Given the description of an element on the screen output the (x, y) to click on. 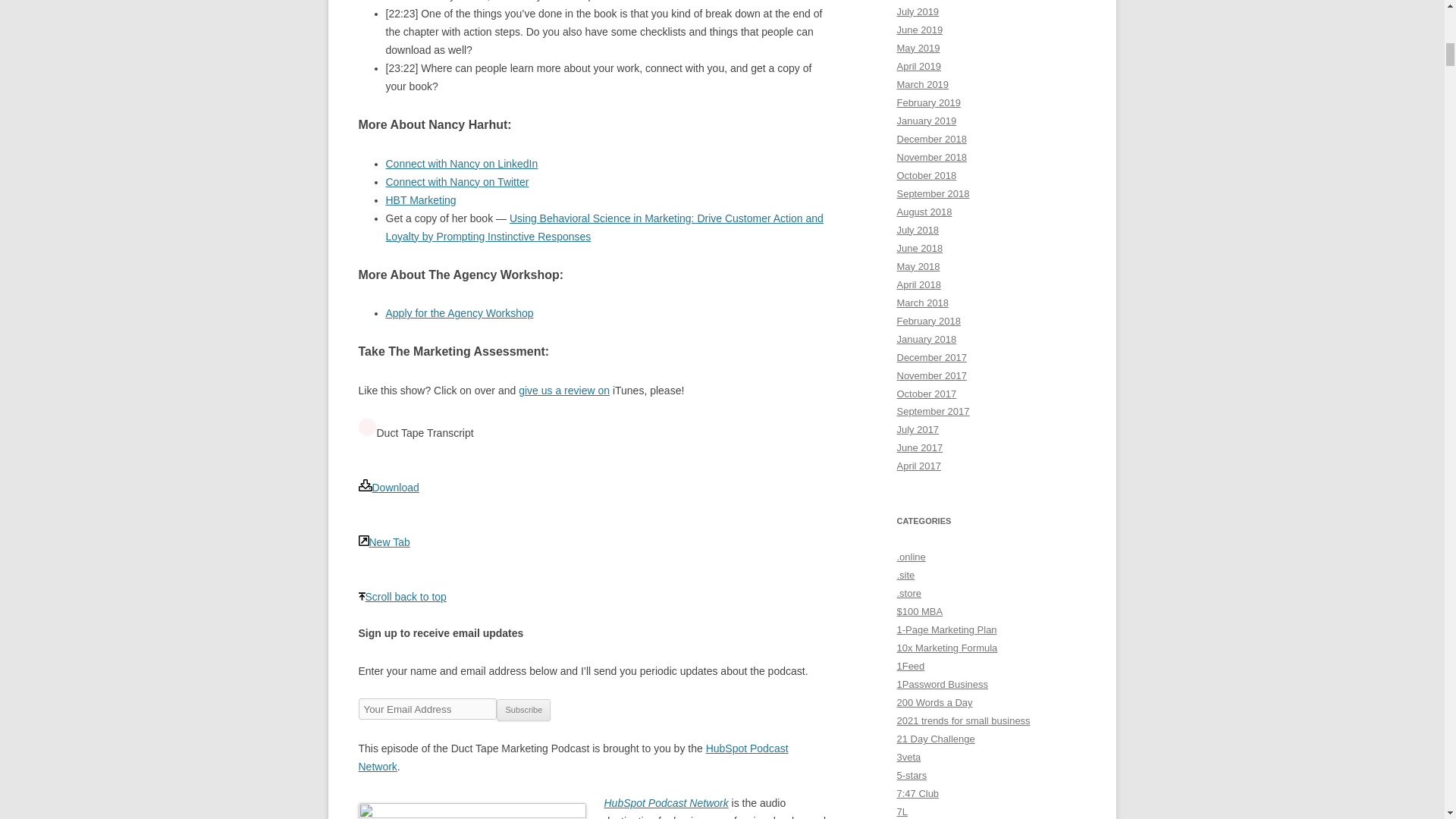
Connect with Nancy on LinkedIn (461, 163)
Apply for the Agency Workshop (458, 313)
HBT Marketing (420, 200)
New Tab (383, 551)
Scroll back to top (401, 605)
Connect with Nancy on Twitter (456, 182)
Download (388, 496)
Subscribe (523, 710)
give us a review on (564, 390)
